Given the description of an element on the screen output the (x, y) to click on. 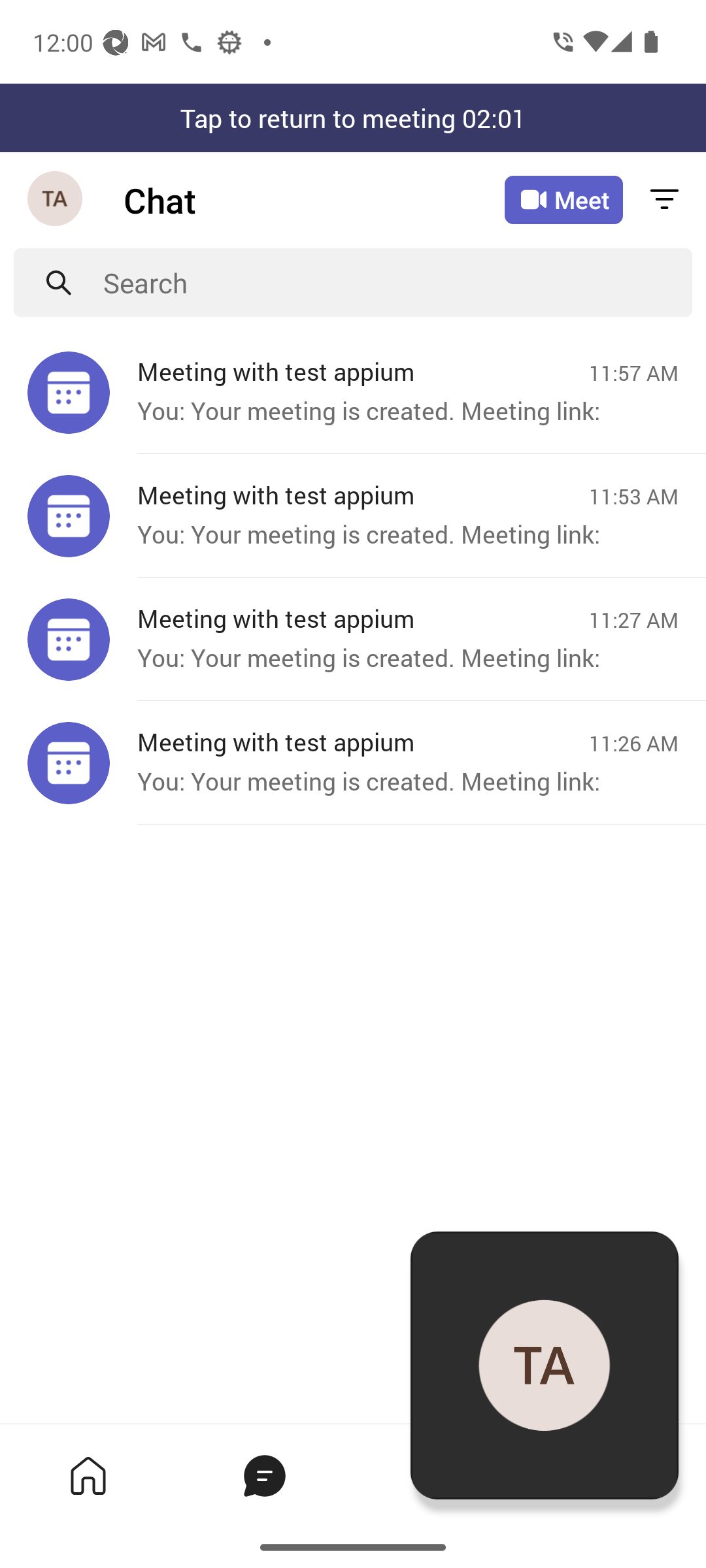
Tap to return to meeting 02:01 (353, 117)
Filter chat messages (664, 199)
Navigation (56, 199)
Meet Meet now or join with an ID (563, 199)
Search (397, 281)
Home tab,1 of 4, not selected (88, 1475)
Chat tab, 2 of 4 (264, 1475)
